Given the description of an element on the screen output the (x, y) to click on. 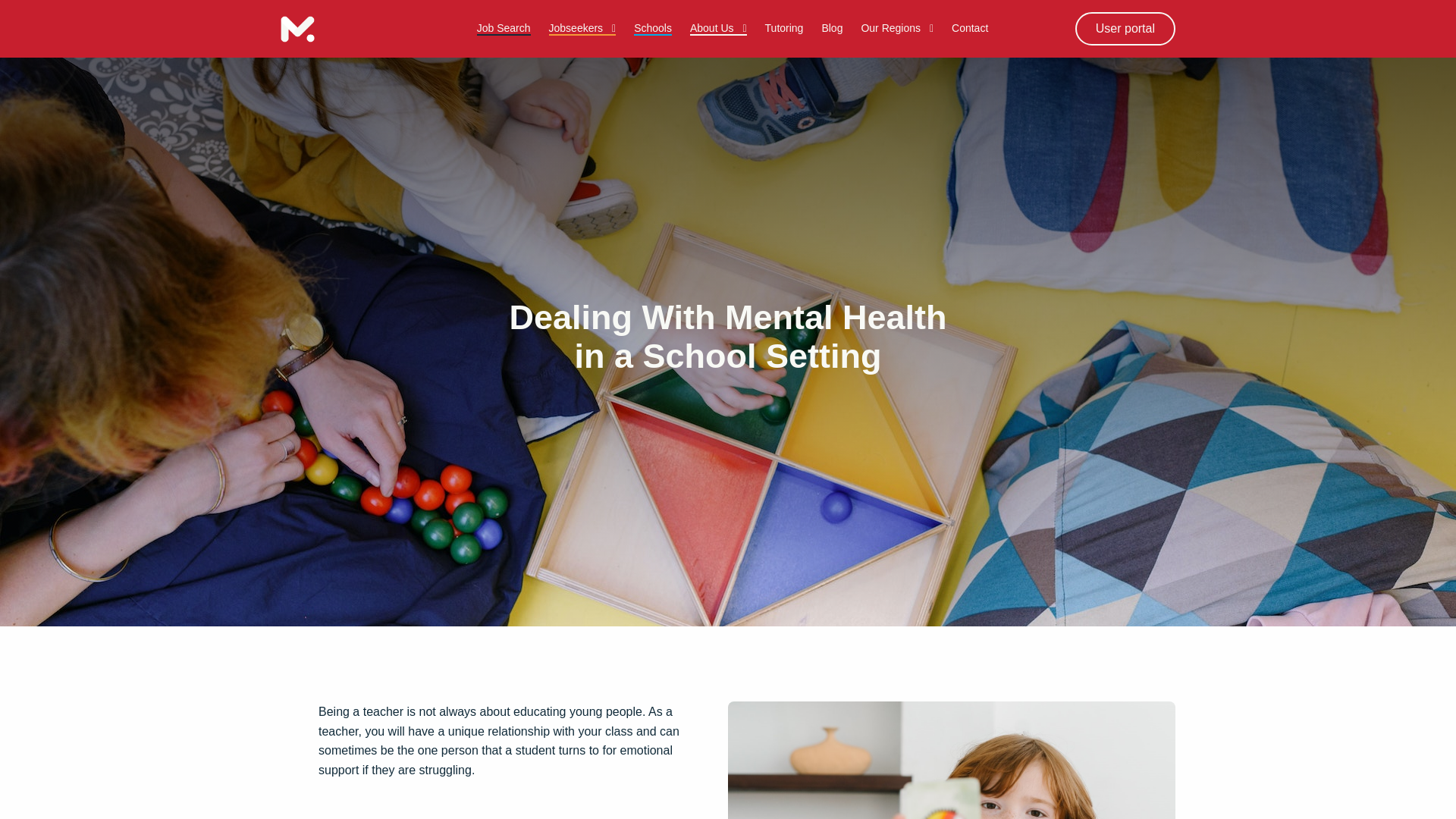
Tutoring (784, 28)
Our Regions (896, 28)
User portal (1124, 28)
Job Search (504, 28)
Schools (652, 28)
Blog (832, 28)
About Us (718, 28)
Jobseekers (581, 28)
Contact (970, 28)
